Given the description of an element on the screen output the (x, y) to click on. 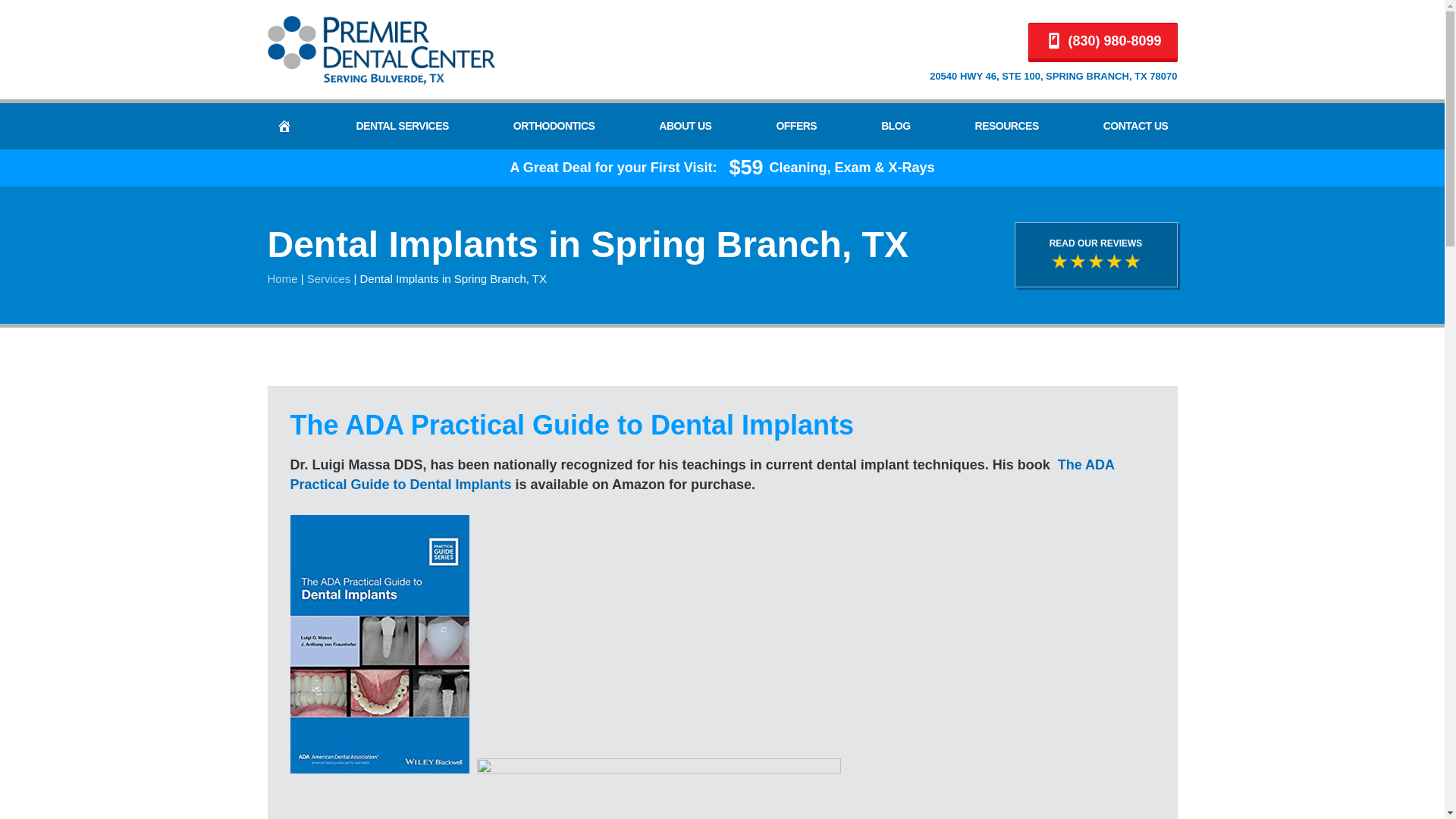
RESOURCES (1007, 125)
Services (328, 278)
20540 HWY 46, STE 100, SPRING BRANCH, TX 78070 (1053, 75)
OFFERS (796, 125)
Home (281, 278)
ORTHODONTICS (553, 125)
CONTACT US (1135, 125)
DENTAL SERVICES (401, 125)
BLOG (895, 125)
ABOUT US (684, 125)
